Given the description of an element on the screen output the (x, y) to click on. 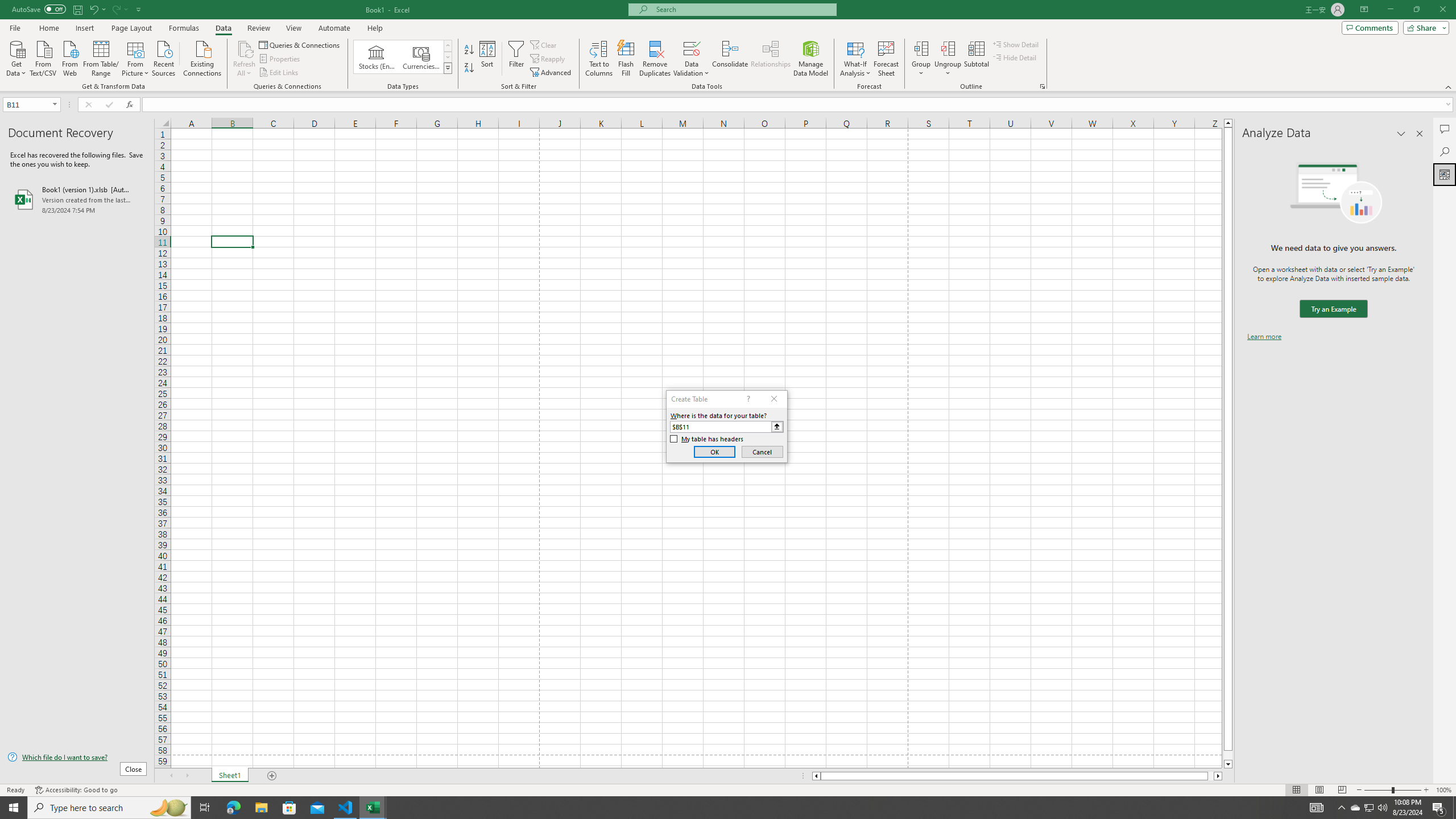
From Text/CSV (43, 57)
Flash Fill (625, 58)
Forecast Sheet (885, 58)
Get Data (16, 57)
Sort... (487, 58)
